Given the description of an element on the screen output the (x, y) to click on. 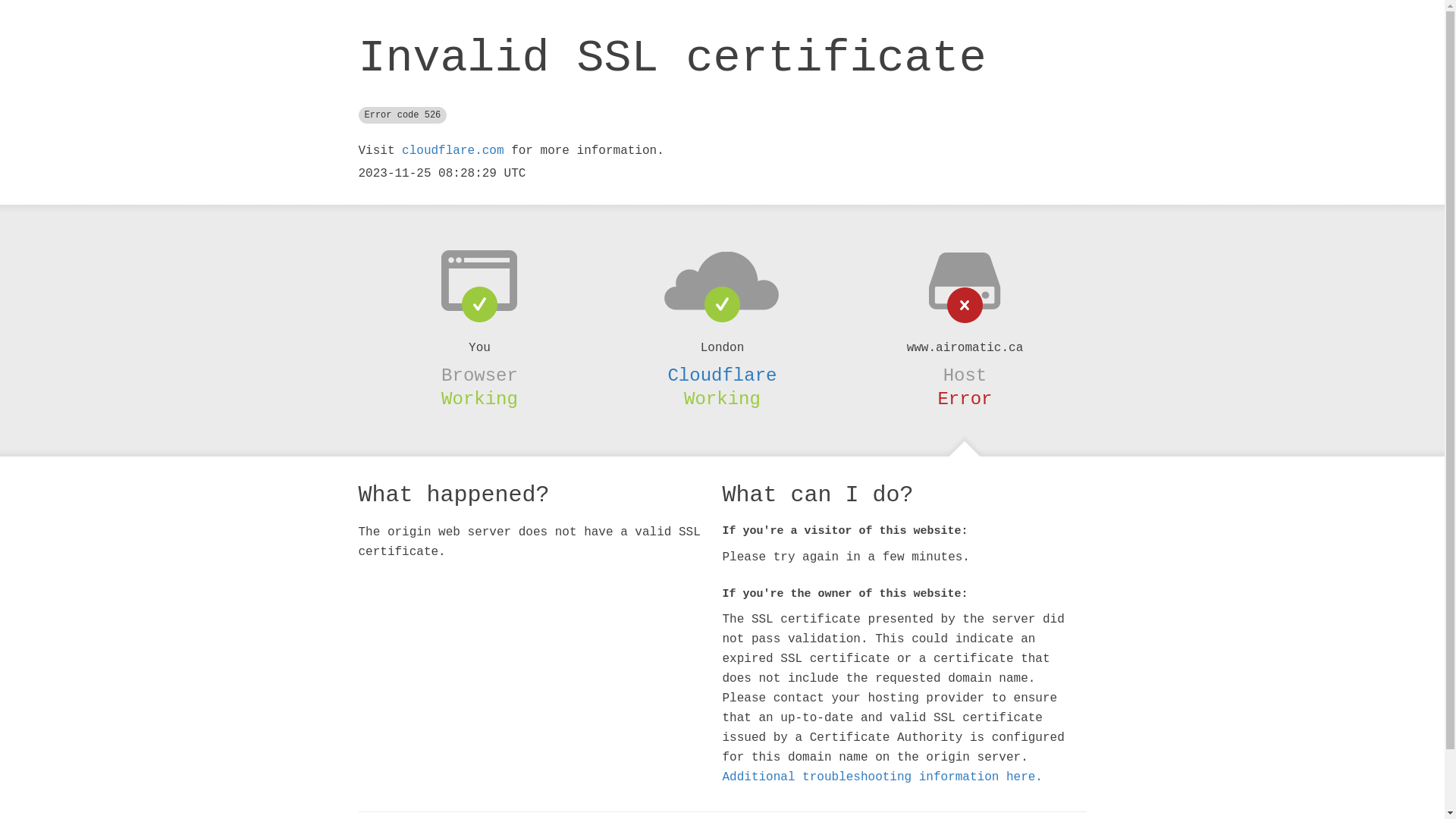
Cloudflare Element type: text (721, 375)
Additional troubleshooting information here. Element type: text (881, 777)
cloudflare.com Element type: text (452, 150)
